Given the description of an element on the screen output the (x, y) to click on. 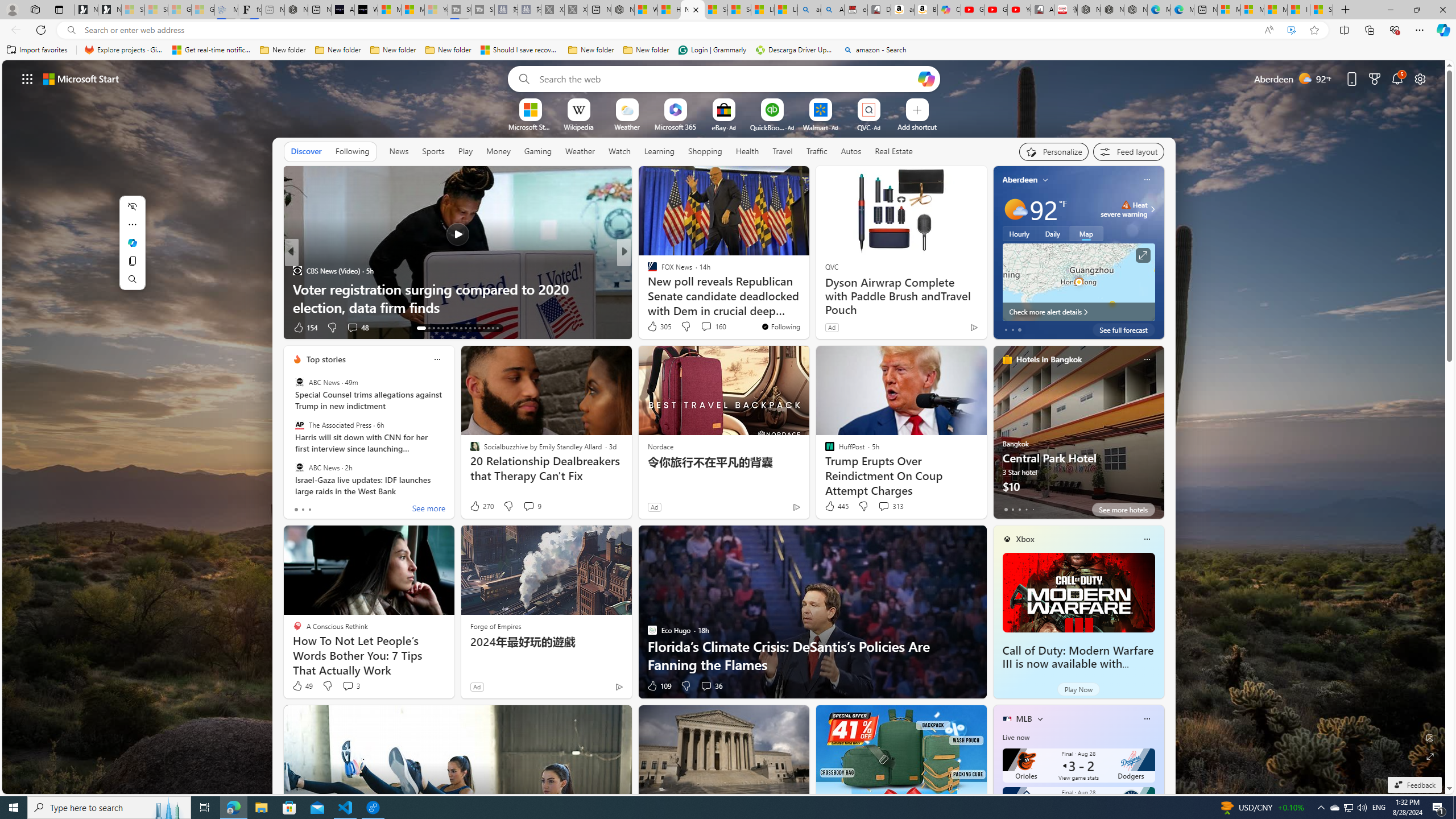
New tab (1205, 9)
Aberdeen (1019, 179)
124 Like (654, 327)
Copilot (949, 9)
Import favorites (36, 49)
Daily (1052, 233)
Class: weather-arrow-glyph (1152, 208)
Traffic (816, 151)
All Cubot phones (1042, 9)
Search (132, 279)
AutomationID: tab-14 (424, 328)
Business Insider (647, 270)
Microsoft start (81, 78)
